Given the description of an element on the screen output the (x, y) to click on. 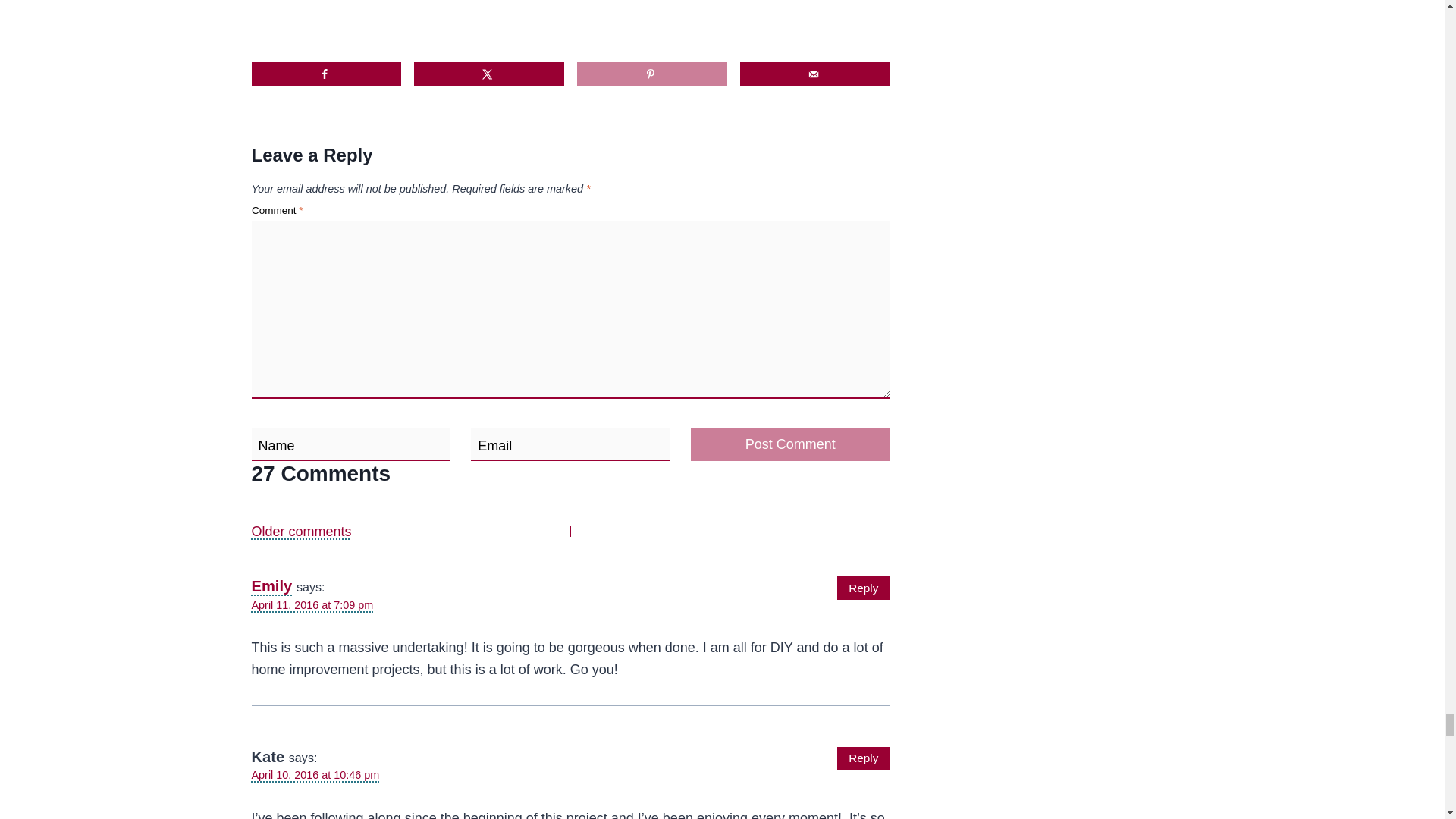
Older comments (410, 531)
Post Comment (789, 444)
Post Comment (789, 444)
Emily (271, 586)
Send over email (814, 74)
Share on X (488, 74)
Save to Pinterest (651, 74)
Share on Facebook (326, 74)
